Given the description of an element on the screen output the (x, y) to click on. 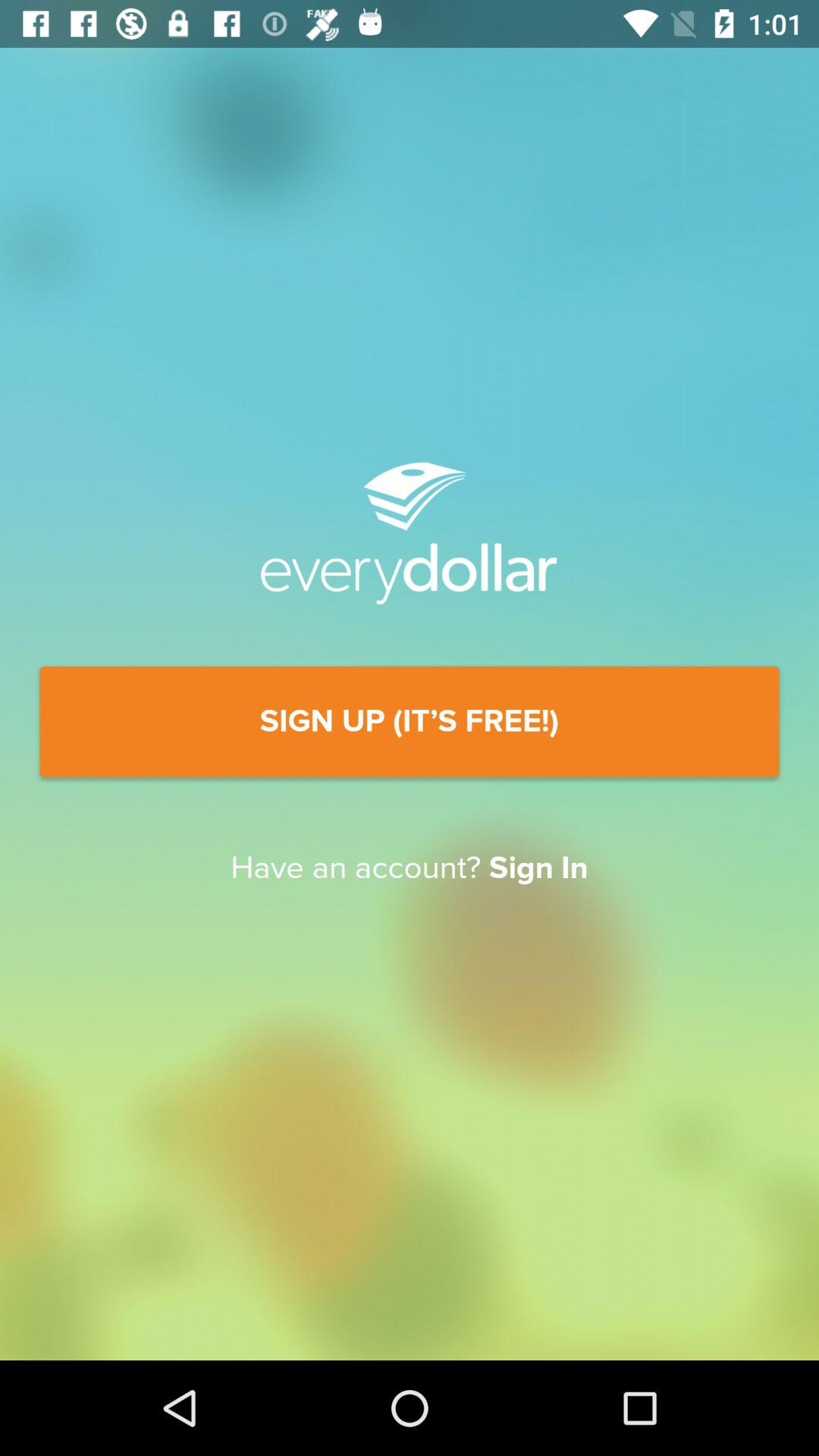
jump until the sign up it item (409, 721)
